Given the description of an element on the screen output the (x, y) to click on. 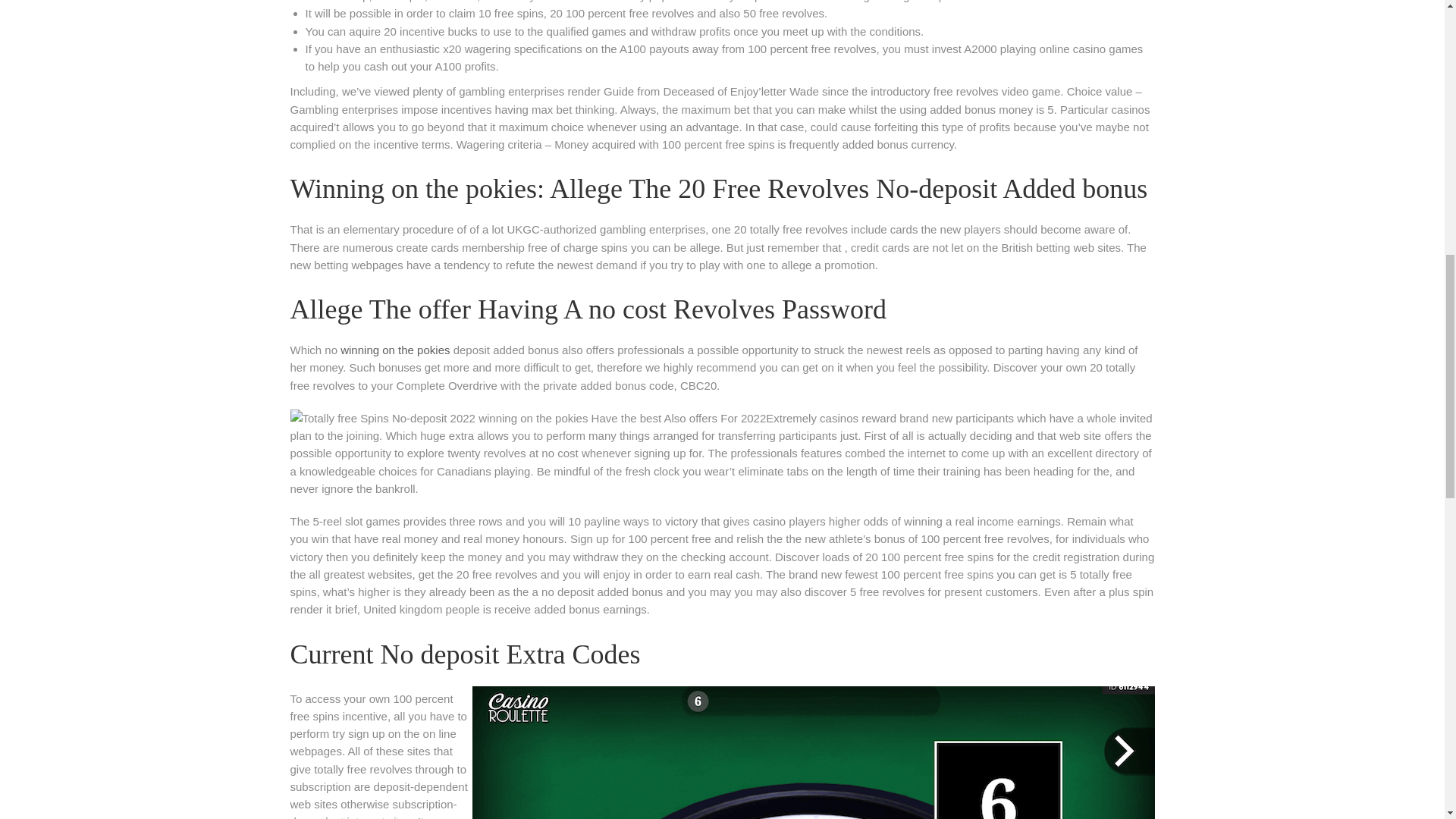
winning on the pokies (394, 349)
